Given the description of an element on the screen output the (x, y) to click on. 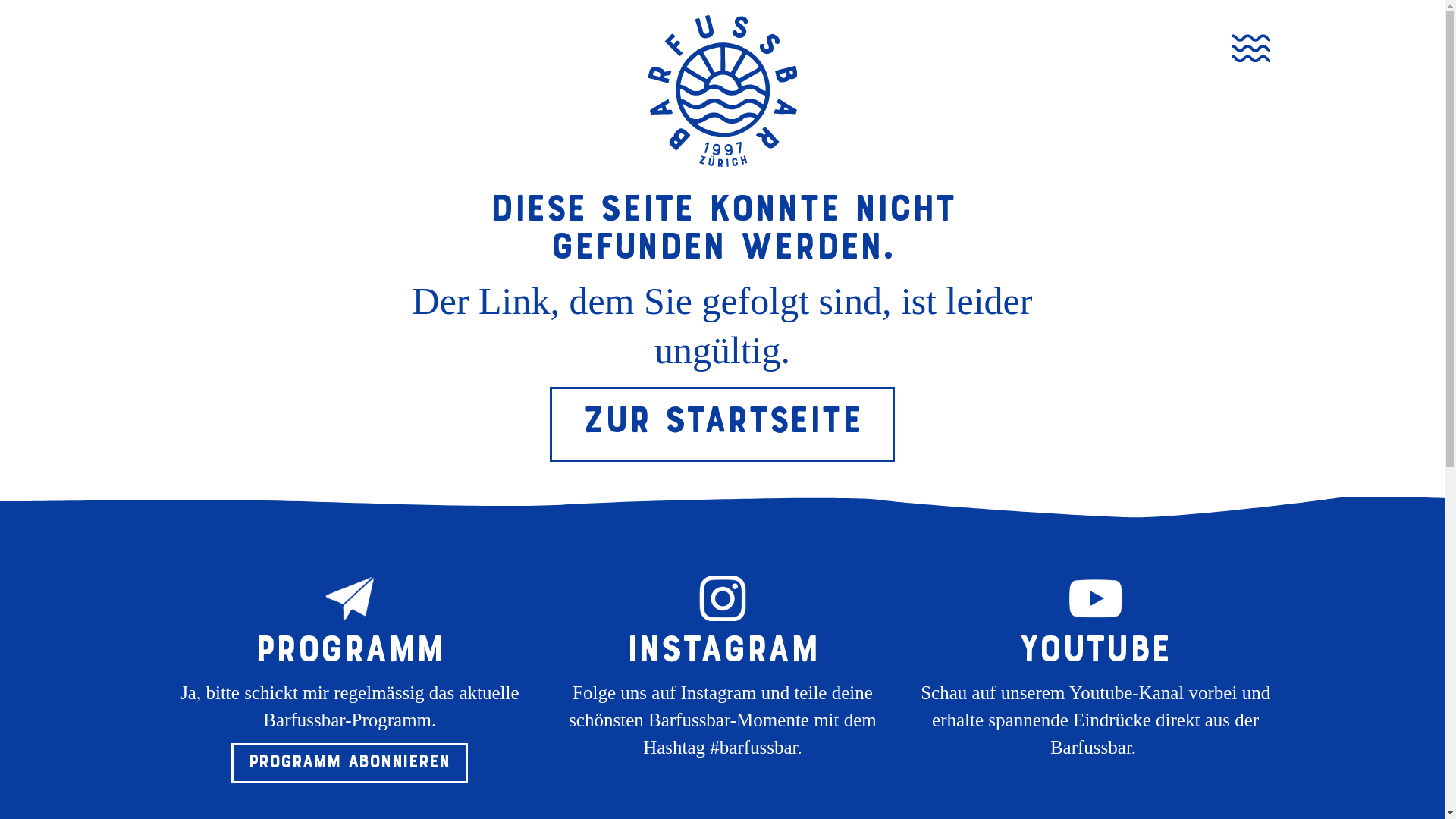
Programm abonnieren Element type: text (349, 762)
Youtube Element type: text (1094, 648)
Instagram Element type: text (722, 648)
Zur Startseite Element type: text (721, 423)
